Given the description of an element on the screen output the (x, y) to click on. 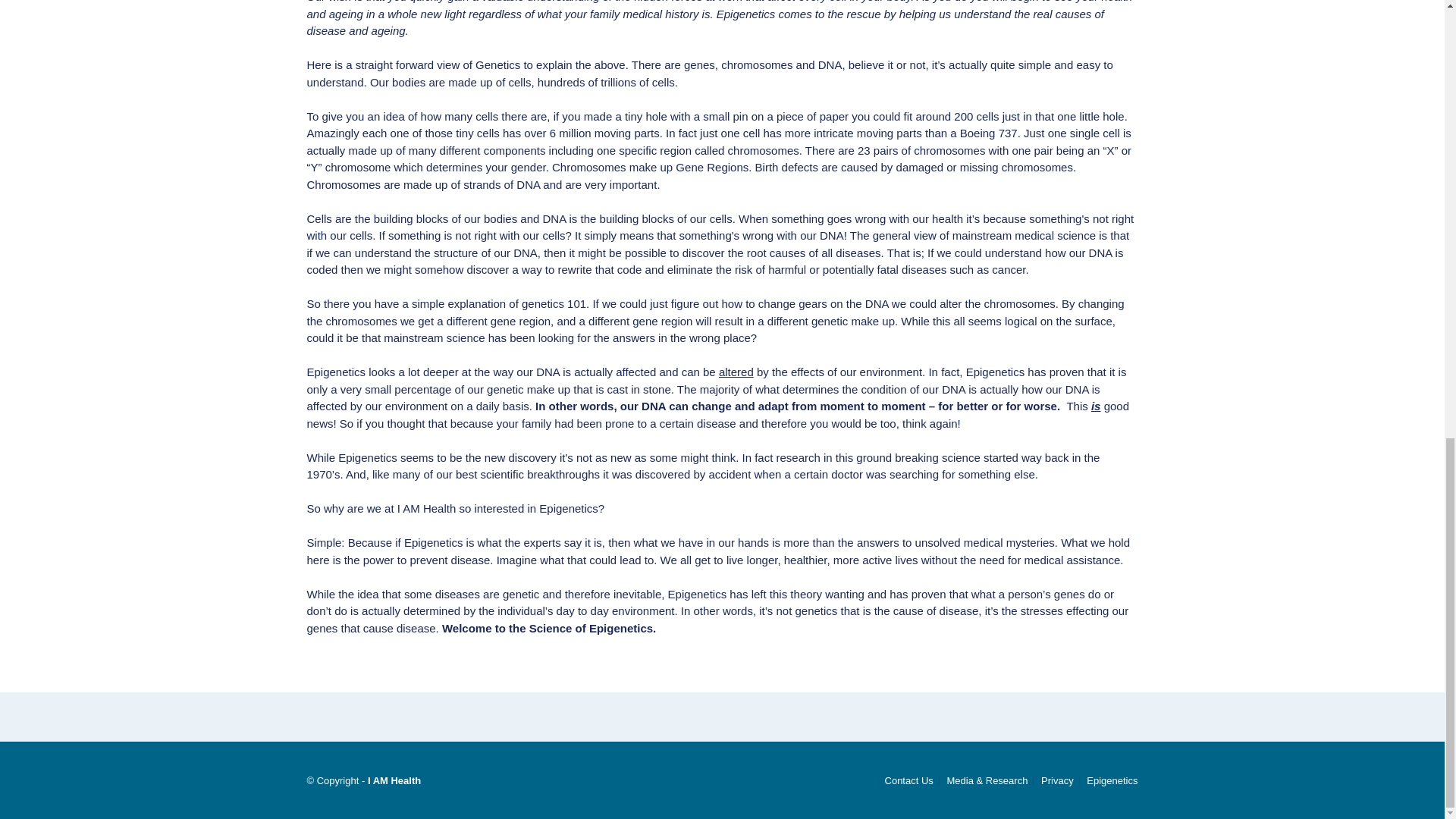
Privacy (1056, 780)
Epigenetics (1109, 780)
Contact Us (909, 780)
